Given the description of an element on the screen output the (x, y) to click on. 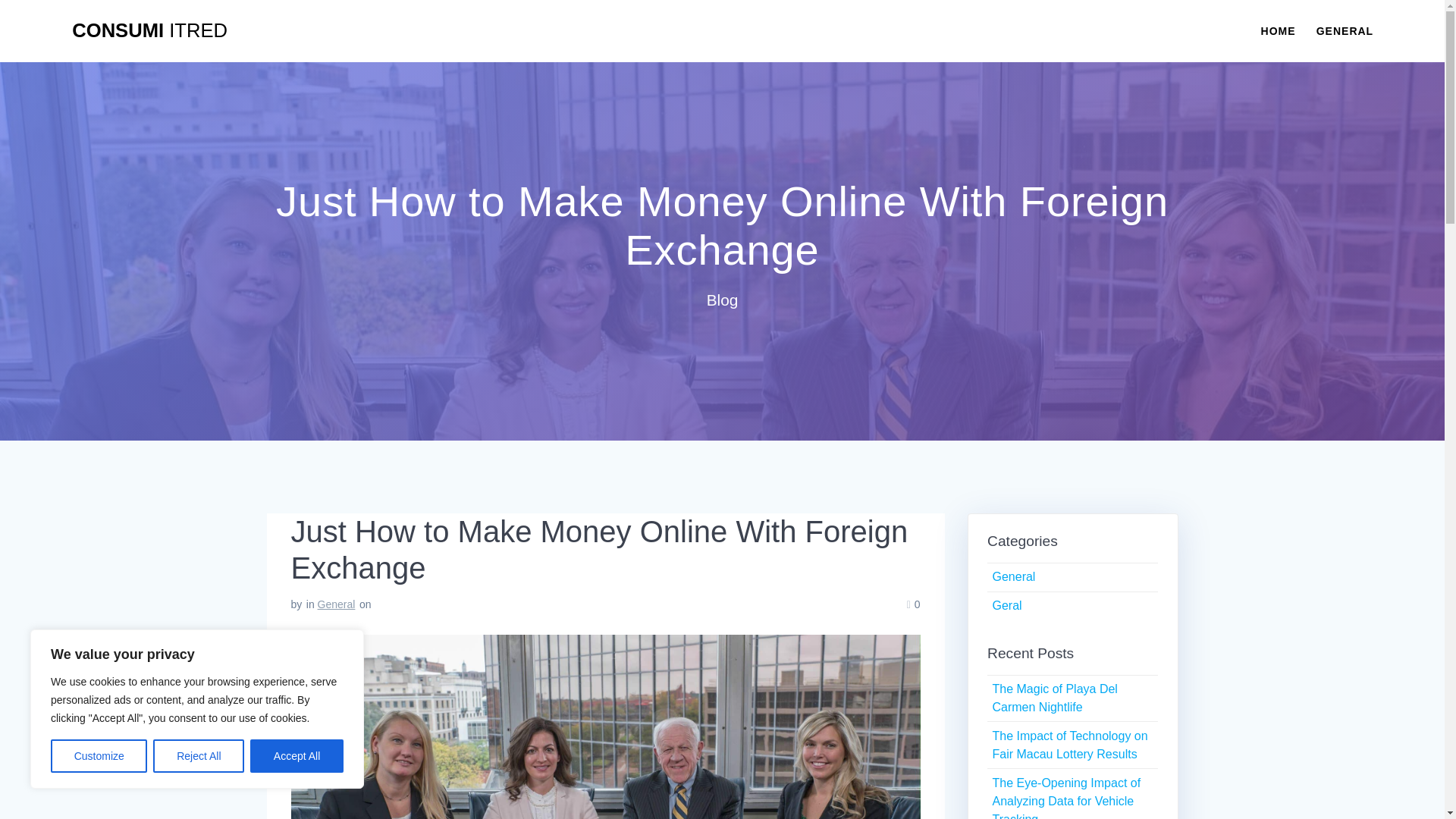
The Magic of Playa Del Carmen Nightlife (1053, 697)
Reject All (198, 756)
General (1013, 576)
Accept All (296, 756)
General (336, 604)
Customize (98, 756)
Geral (1006, 604)
CONSUMI ITRED (149, 30)
The Impact of Technology on Fair Macau Lottery Results (1069, 744)
